Given the description of an element on the screen output the (x, y) to click on. 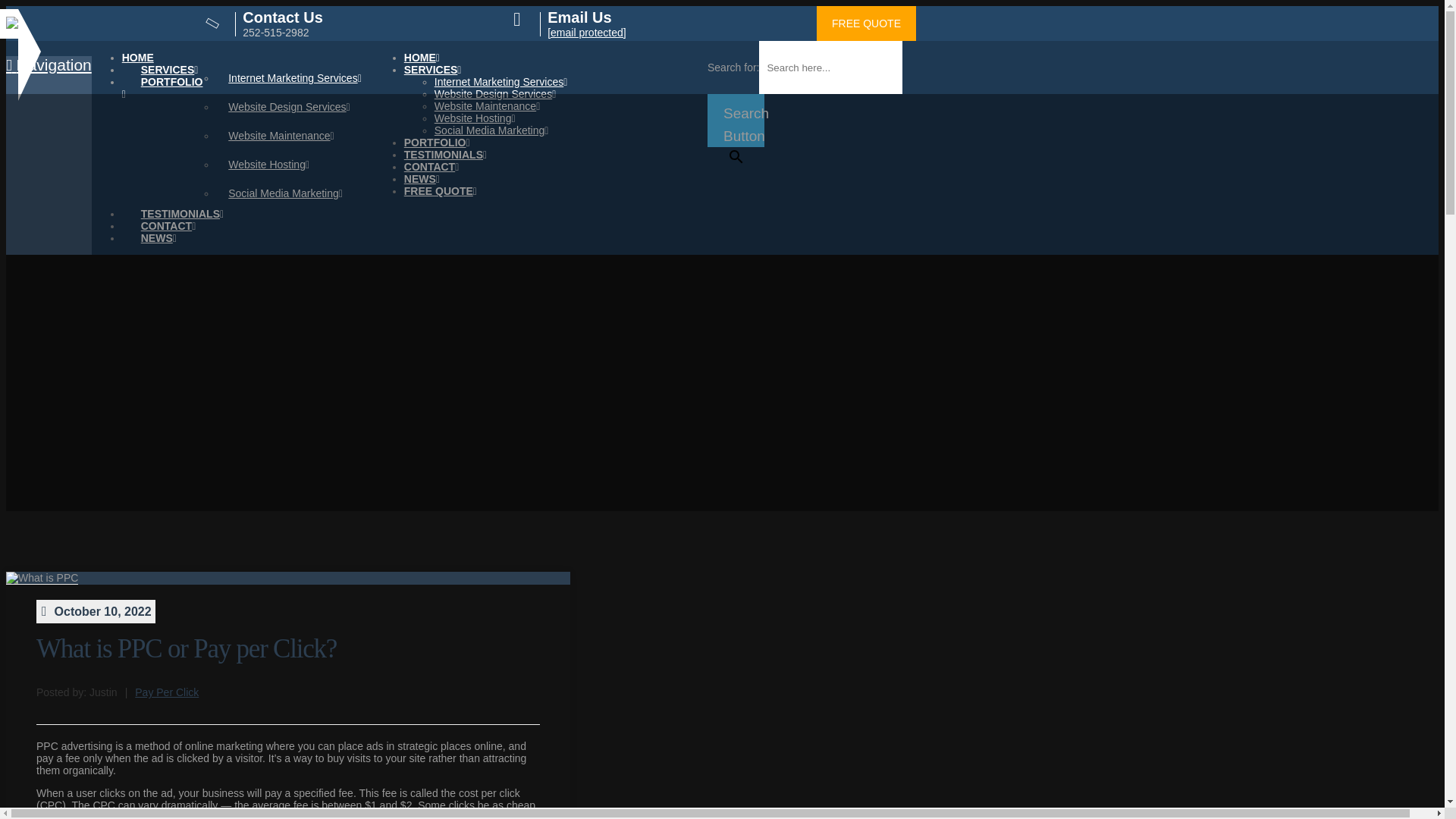
Website Design Services (494, 93)
Social Media Marketing (294, 193)
Website Maintenance (486, 105)
FREE QUOTE (440, 191)
Internet Marketing Services (294, 77)
PORTFOLIO (437, 142)
Search Button (735, 120)
TESTIMONIALS (181, 203)
HOME (137, 57)
CONTACT (168, 215)
